Given the description of an element on the screen output the (x, y) to click on. 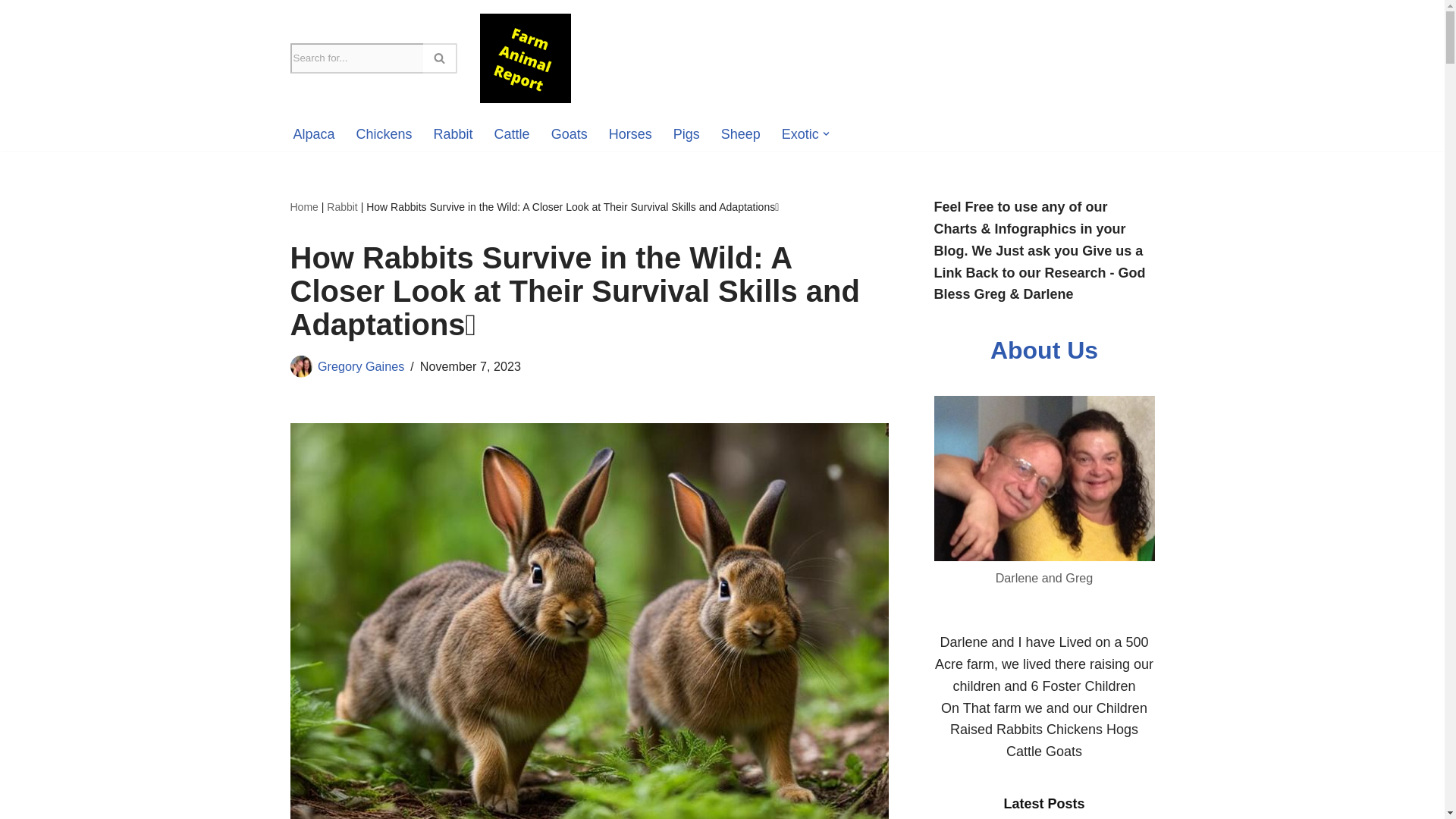
Chickens (384, 133)
Exotic (799, 133)
Sheep (740, 133)
Cattle (512, 133)
Rabbit (453, 133)
Skip to content (11, 31)
Horses (630, 133)
Alpaca (313, 133)
Posts by Gregory Gaines (360, 366)
Goats (569, 133)
Pigs (686, 133)
